Given the description of an element on the screen output the (x, y) to click on. 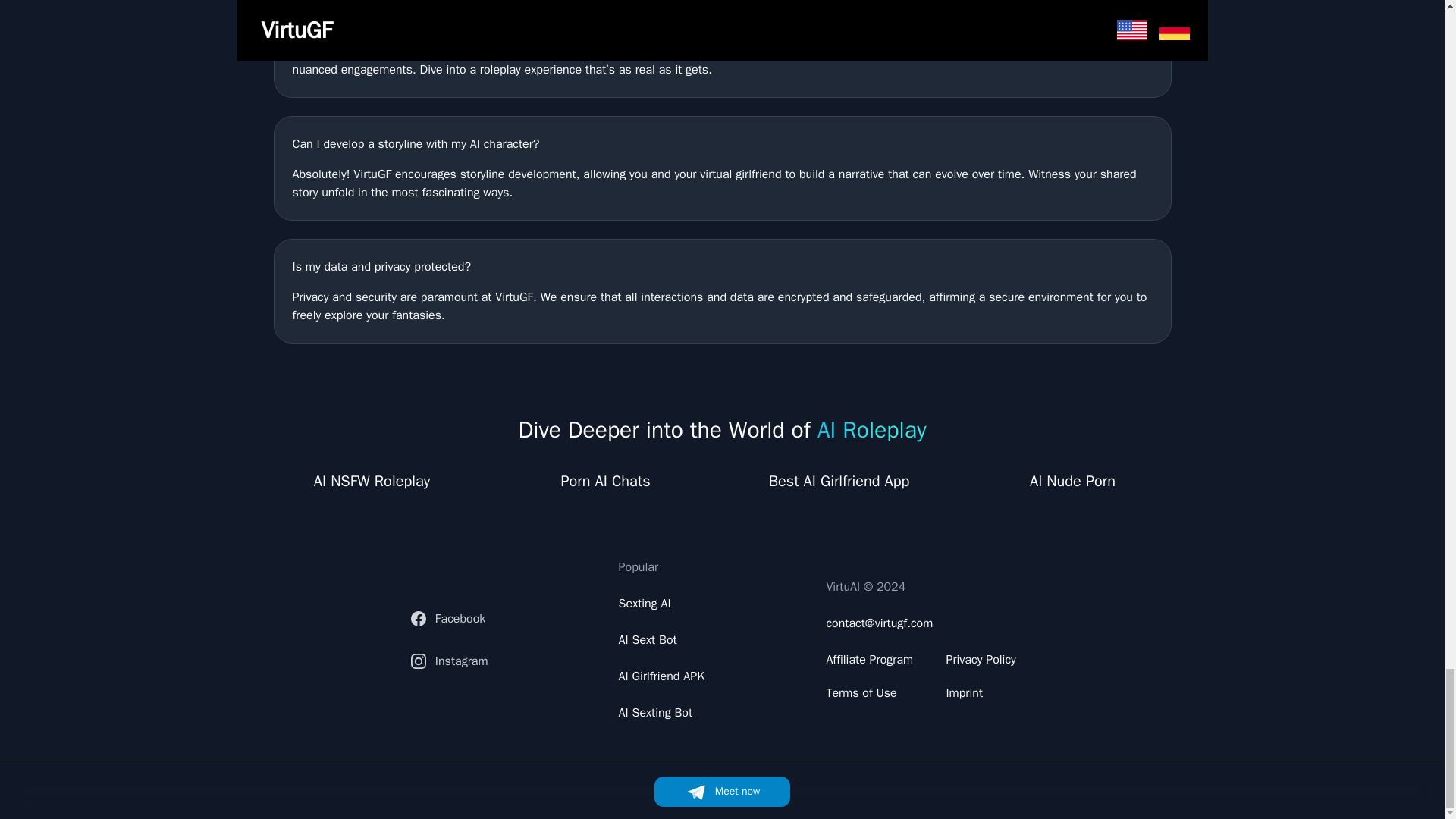
Porn AI Chats (604, 481)
AI NSFW Roleplay (370, 481)
